Given the description of an element on the screen output the (x, y) to click on. 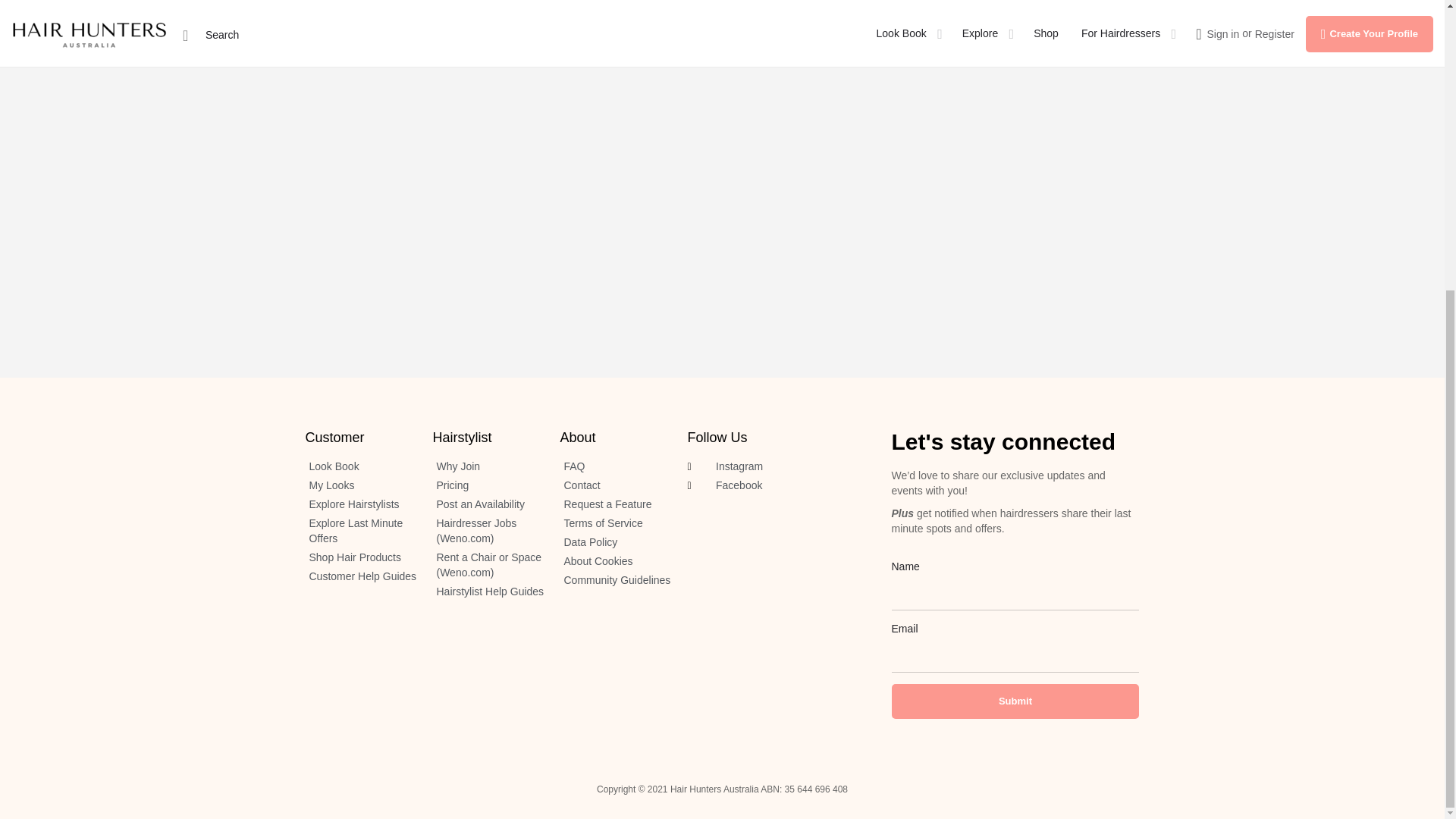
Contact (615, 485)
FAQ (615, 467)
Hairstylist Help Guides (488, 591)
Pricing (488, 485)
Why Join (488, 467)
Explore Hairstylists (360, 504)
Terms of Service (615, 523)
Look Book (360, 467)
Post an Availability (488, 504)
My Looks (360, 485)
Customer Help Guides (360, 576)
Submit (1015, 701)
Shop Hair Products (360, 557)
Data Policy (615, 542)
Explore Last Minute Offers (360, 531)
